Given the description of an element on the screen output the (x, y) to click on. 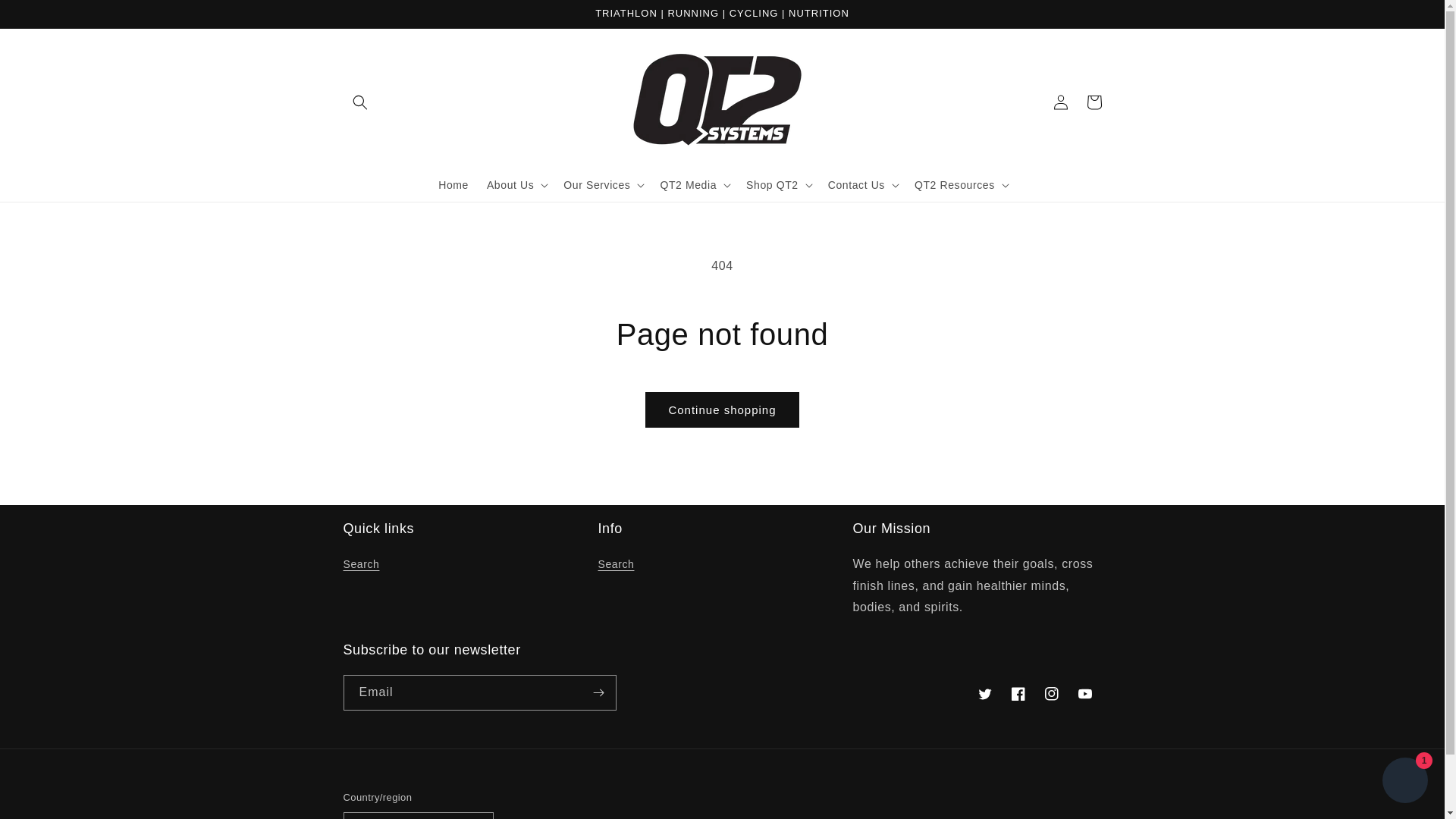
Shopify online store chat (1404, 781)
Skip to content (45, 17)
